Given the description of an element on the screen output the (x, y) to click on. 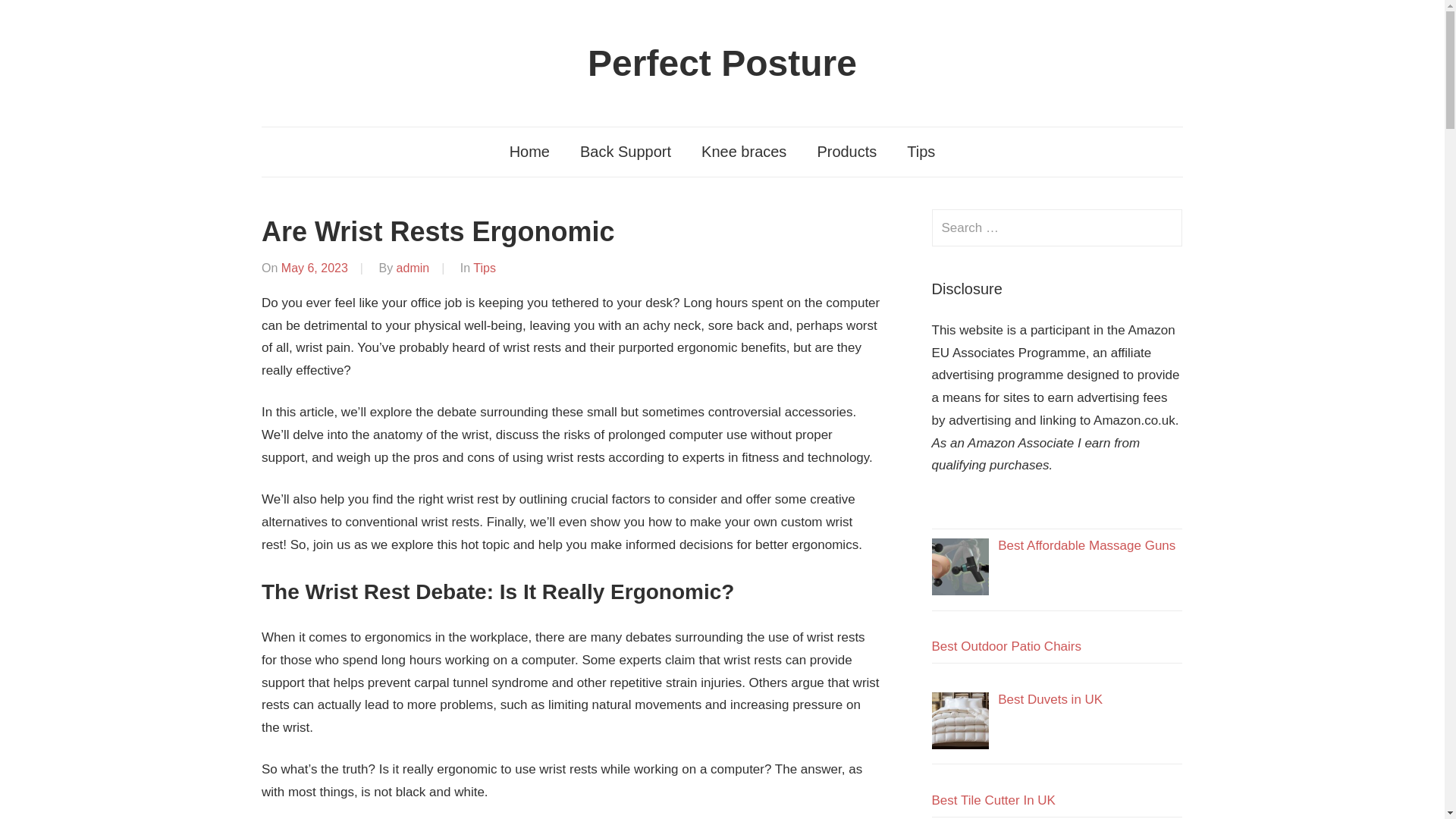
Search (1163, 227)
Best Tile Cutter In UK (992, 800)
admin (412, 267)
May 6, 2023 (314, 267)
Search for: (1056, 227)
Products (846, 151)
Best Affordable Massage Guns (1085, 545)
Tips (920, 151)
Best Outdoor Patio Chairs (1005, 646)
Tips (484, 267)
